Given the description of an element on the screen output the (x, y) to click on. 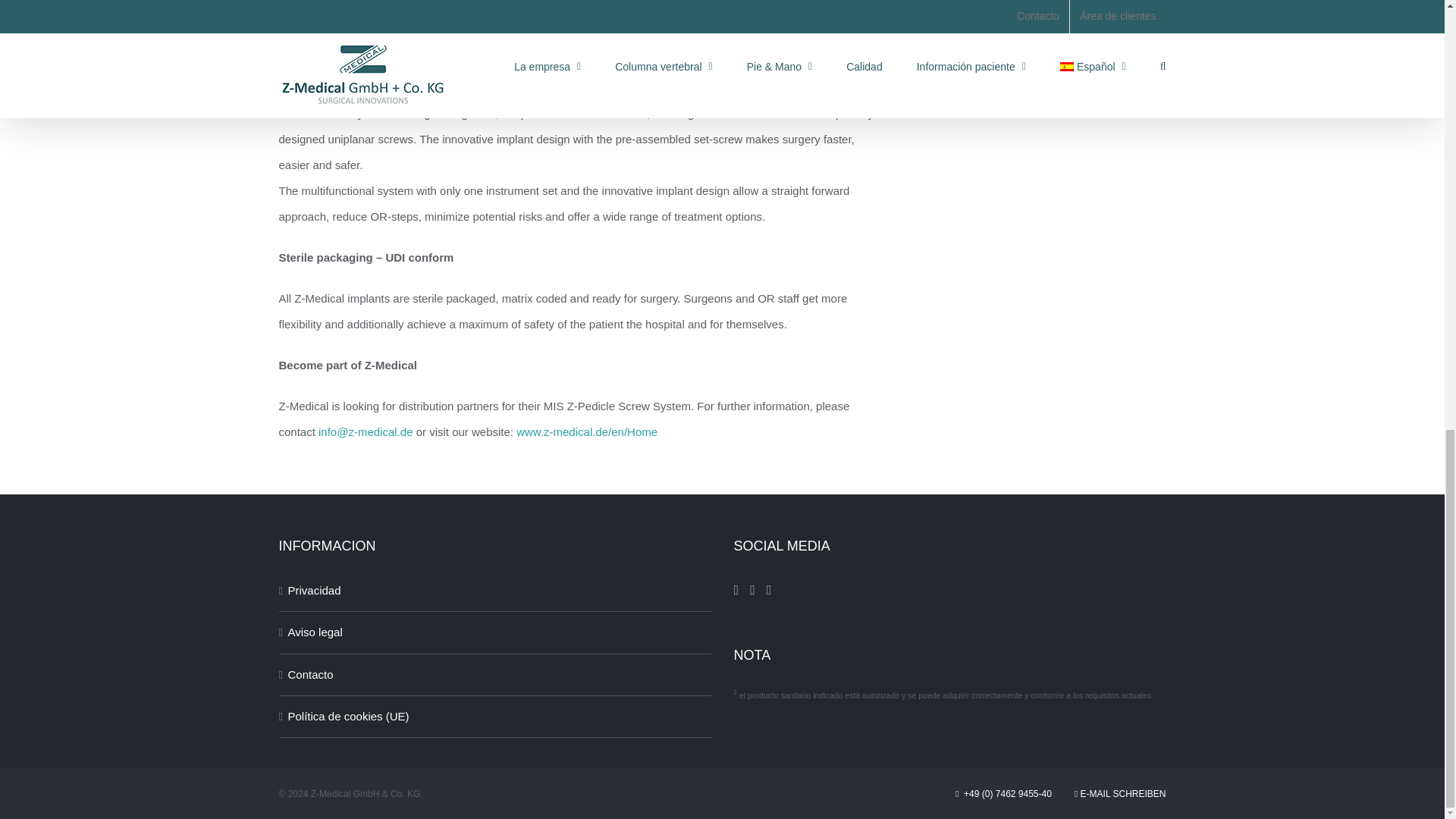
Privacidad (495, 590)
Email (365, 431)
Aviso legal (495, 632)
